Given the description of an element on the screen output the (x, y) to click on. 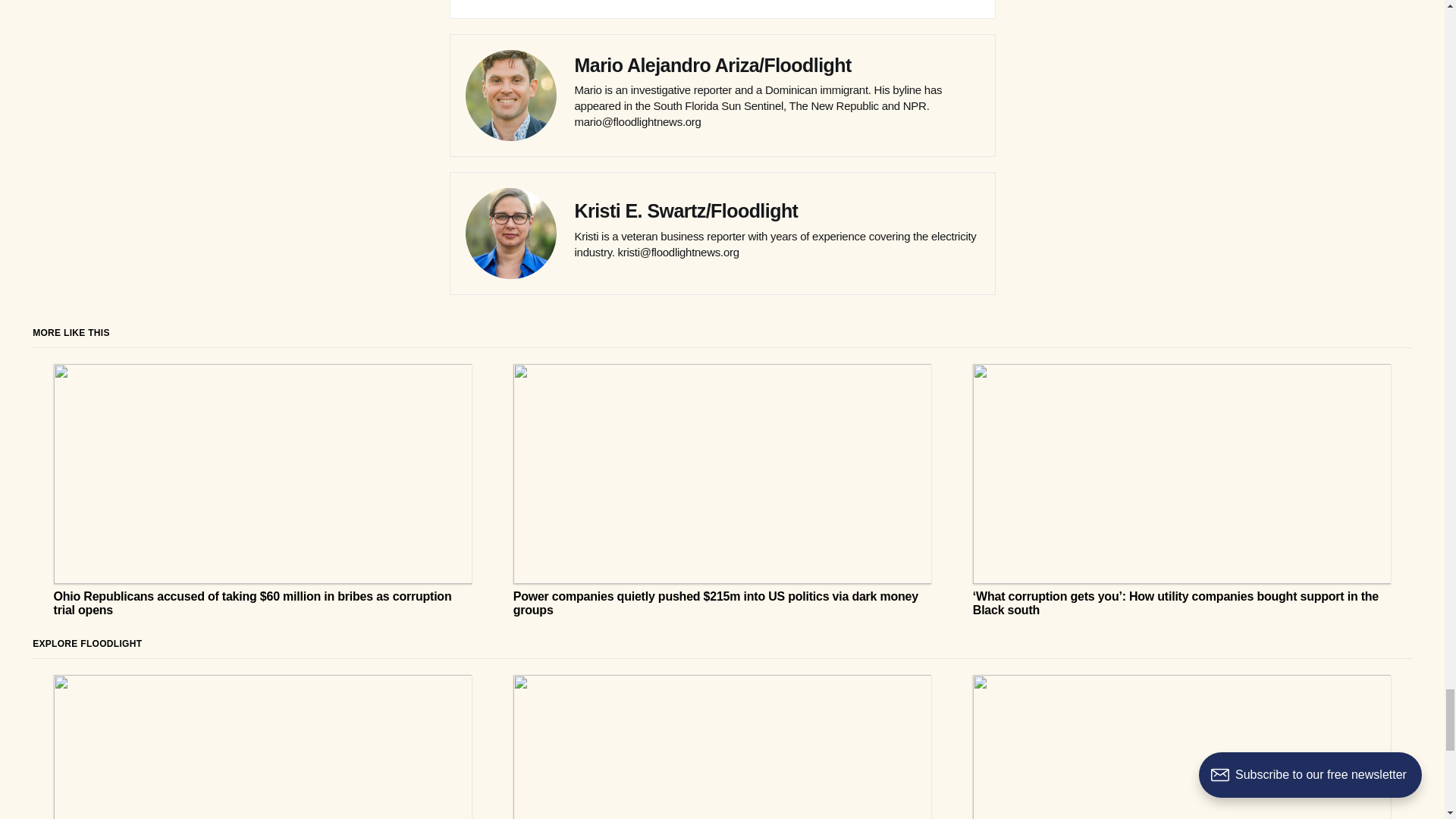
Public outcry against carbon capture in Louisiana growing (262, 746)
